Given the description of an element on the screen output the (x, y) to click on. 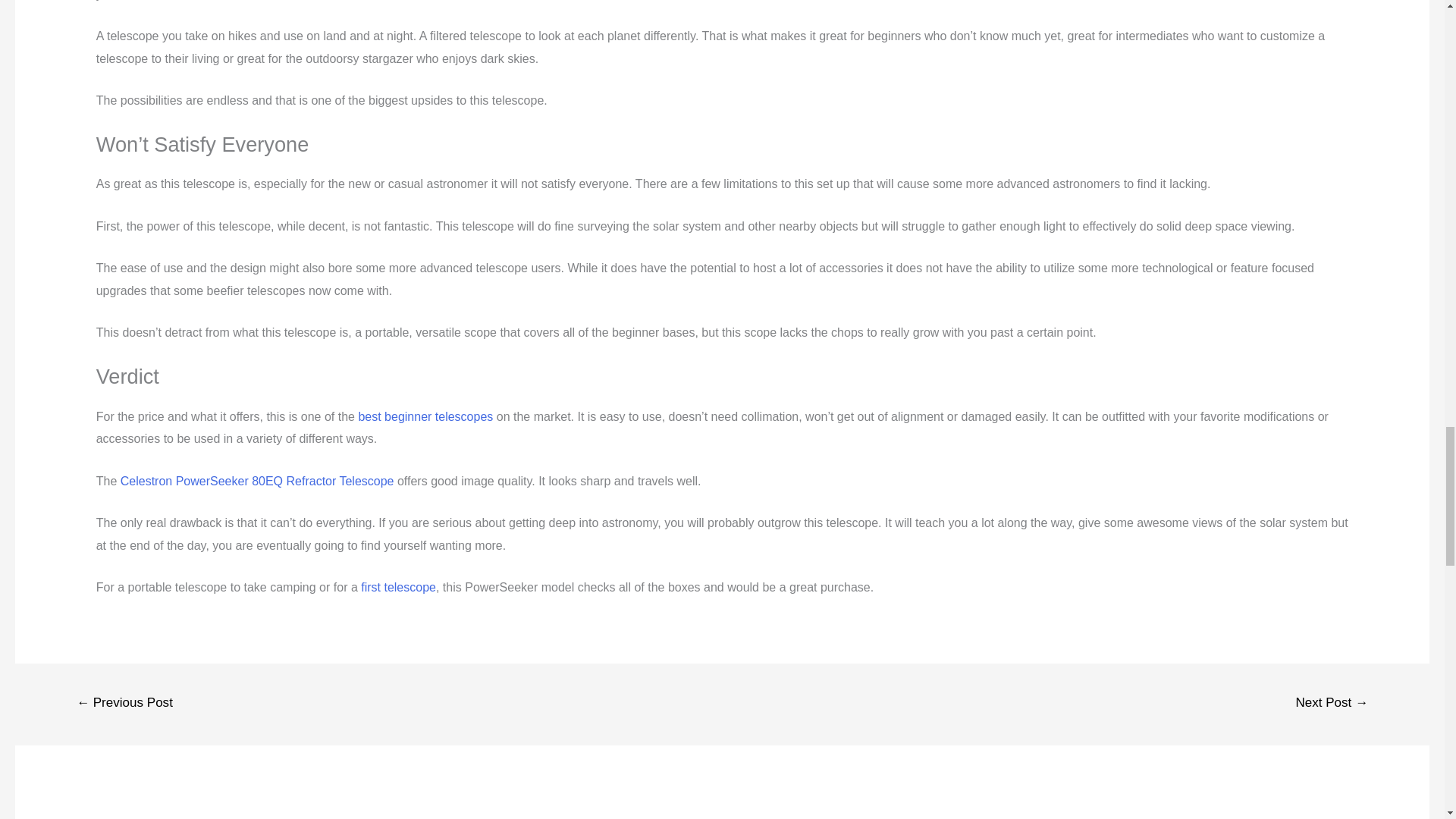
first telescope (398, 586)
best beginner telescopes (425, 416)
Celestron PowerSeeker 80EQ Refractor Telescope (257, 481)
Celestron PowerSeeker 80EQ Refractor Telescope (257, 481)
